Given the description of an element on the screen output the (x, y) to click on. 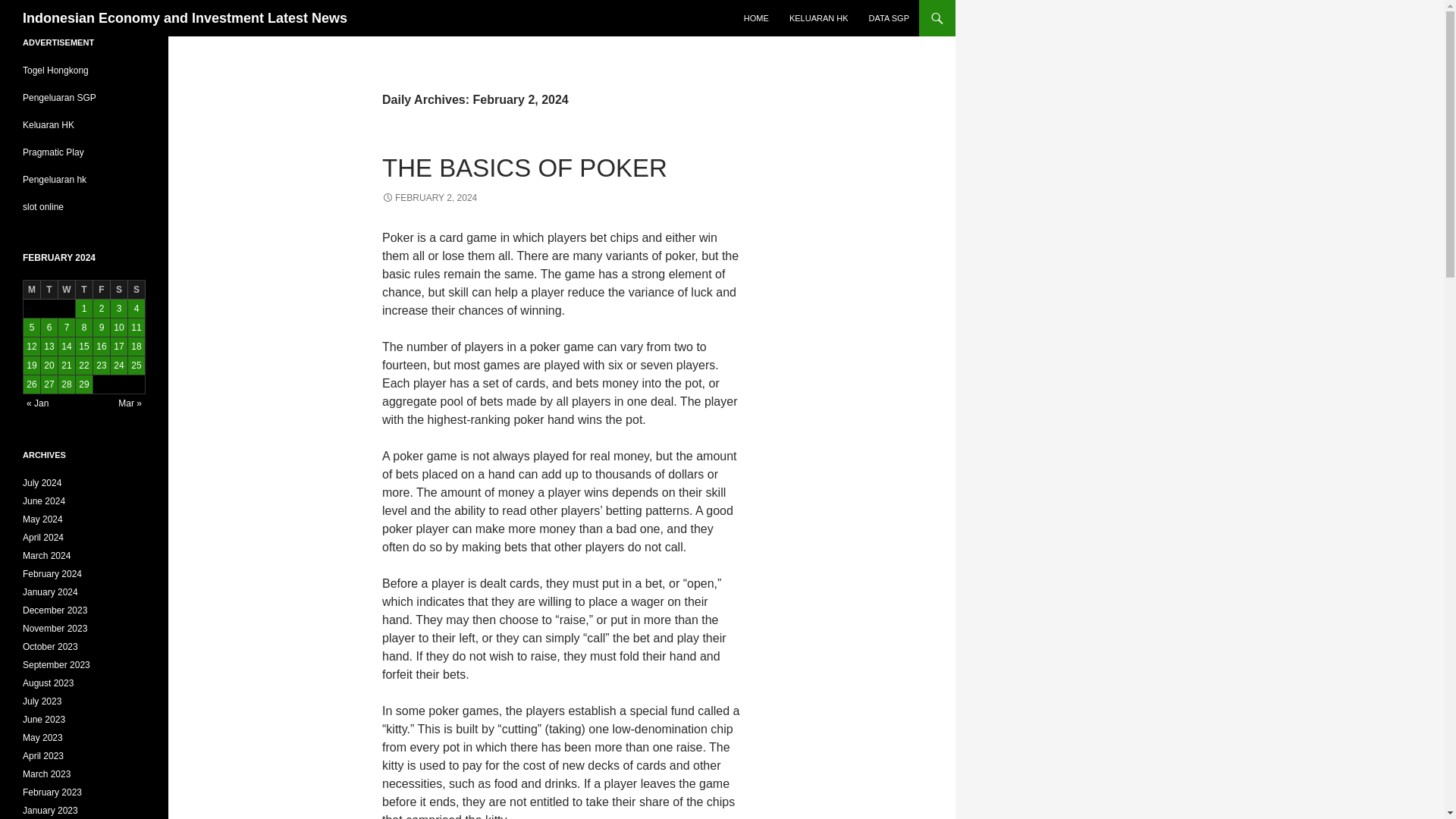
Pragmatic Play (53, 152)
5 (31, 327)
9 (101, 327)
6 (49, 327)
Sunday (136, 289)
Saturday (119, 289)
1 (84, 308)
14 (66, 346)
20 (49, 365)
13 (49, 346)
18 (136, 346)
Thursday (84, 289)
Monday (31, 289)
12 (31, 346)
11 (136, 327)
